Given the description of an element on the screen output the (x, y) to click on. 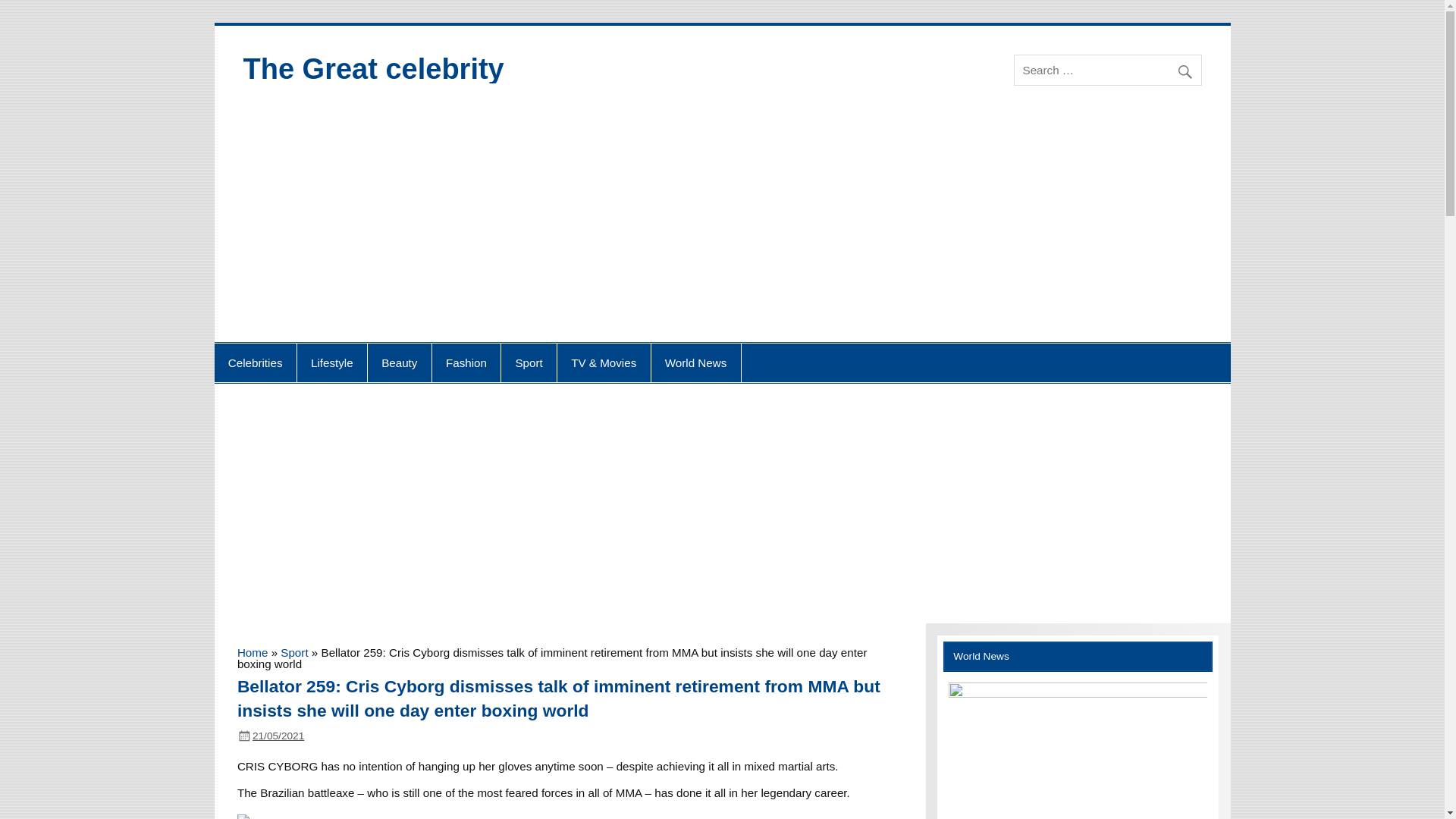
The Great celebrity (373, 69)
Home (252, 652)
Sport (528, 363)
The Guide to Winning Big in Sweet Bonanza Online Slot (1078, 750)
The Guide to Winning Big in Sweet Bonanza Online Slot (1078, 693)
Lifestyle (331, 363)
Fashion (466, 363)
Beauty (399, 363)
Sport (294, 652)
World News (695, 363)
16:31 (277, 736)
Celebrities (254, 363)
